Given the description of an element on the screen output the (x, y) to click on. 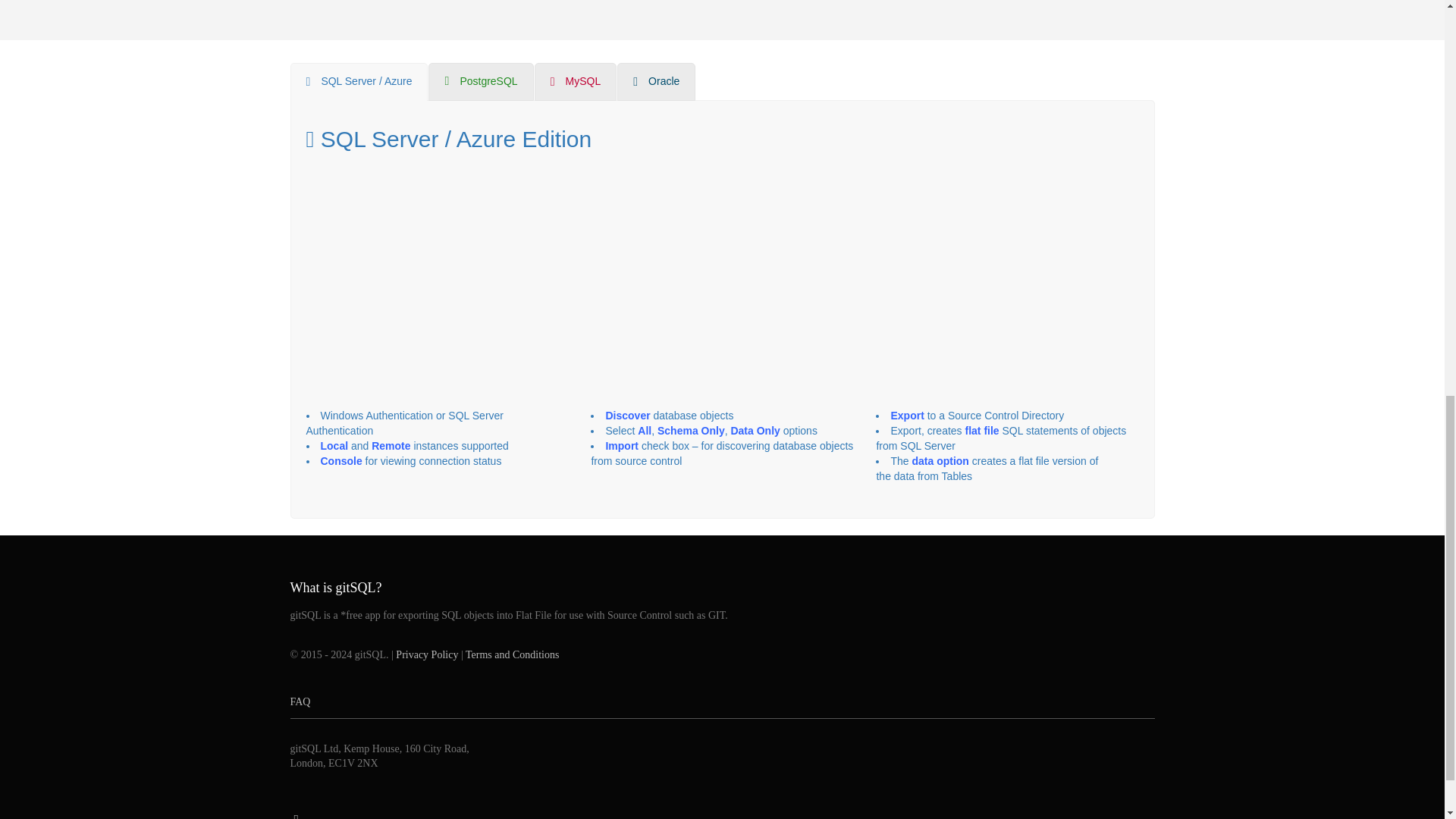
PostgreSQL (480, 81)
Privacy Policy (427, 654)
FAQ (721, 702)
MySQL (575, 81)
Terms and Conditions (512, 654)
Oracle (656, 81)
